Given the description of an element on the screen output the (x, y) to click on. 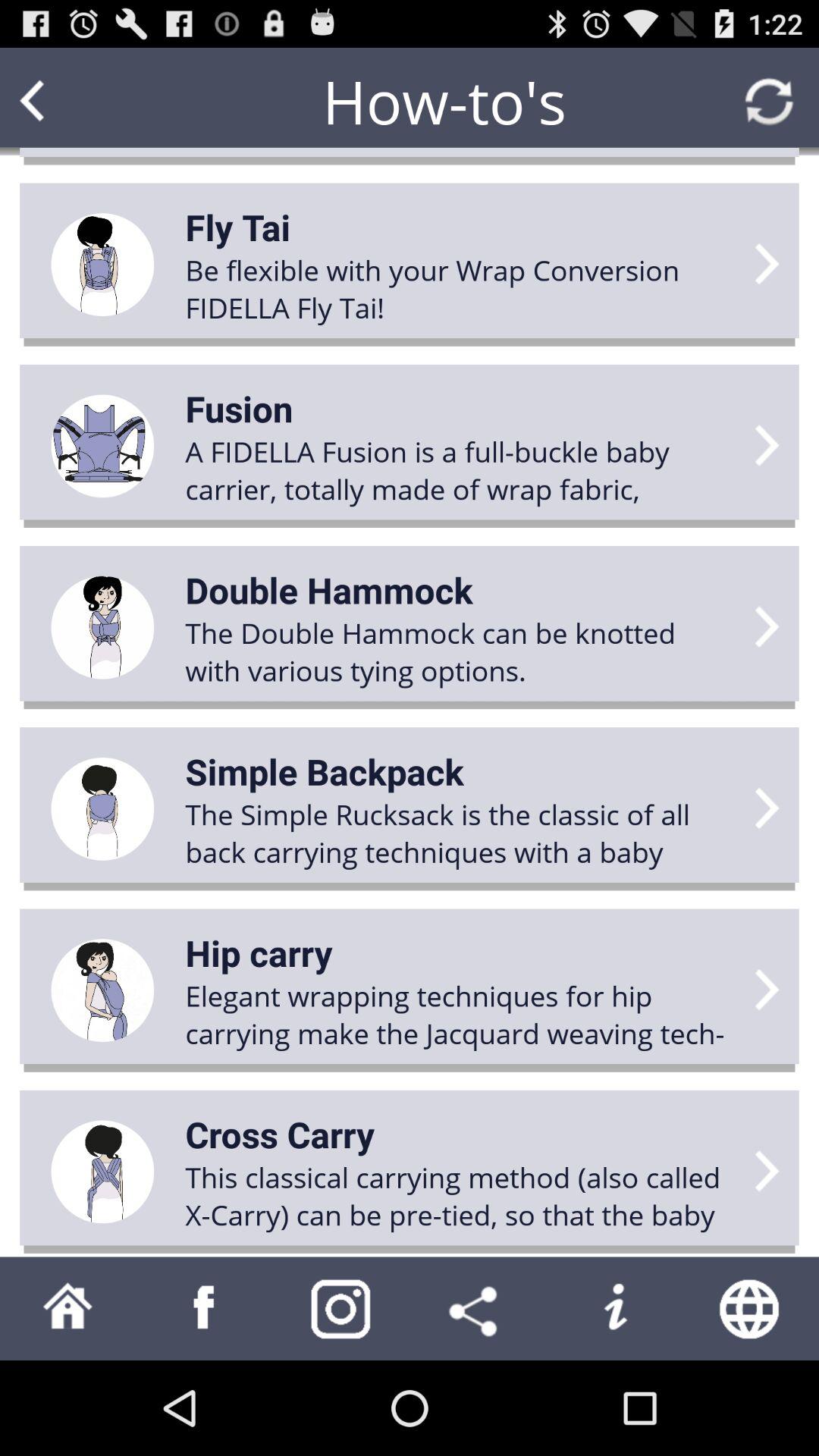
home (68, 1308)
